Given the description of an element on the screen output the (x, y) to click on. 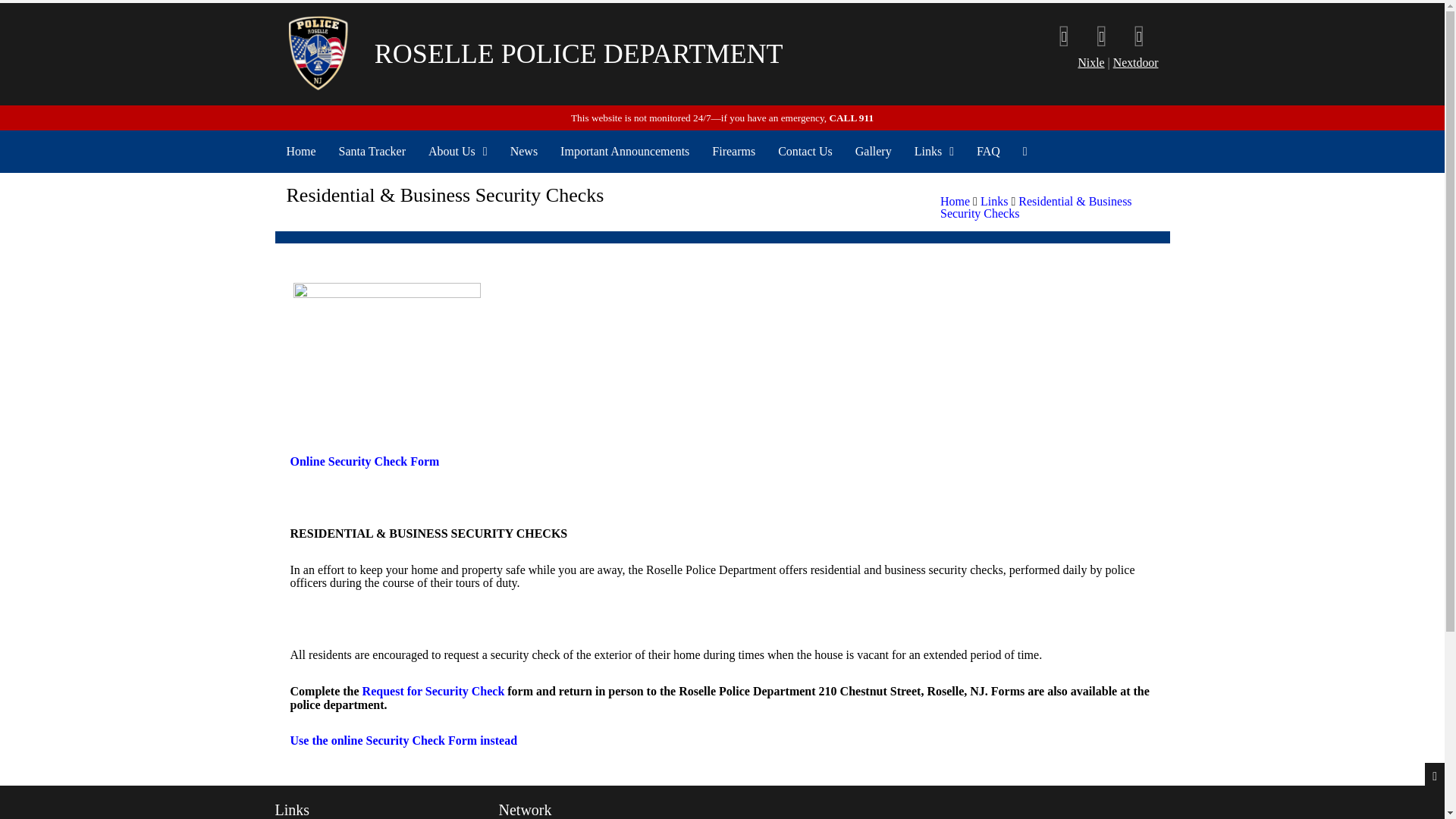
News (523, 151)
Home (300, 151)
Gallery (873, 151)
Links (933, 151)
Request for Security Check (433, 690)
Links (993, 201)
Use the online Security Check Form instead (402, 739)
Gallery (873, 151)
Firearms (733, 151)
Contact Us (805, 151)
FAQ (988, 151)
About Us (457, 151)
Nextdoor (1135, 62)
FAQ (988, 151)
Home (300, 151)
